Given the description of an element on the screen output the (x, y) to click on. 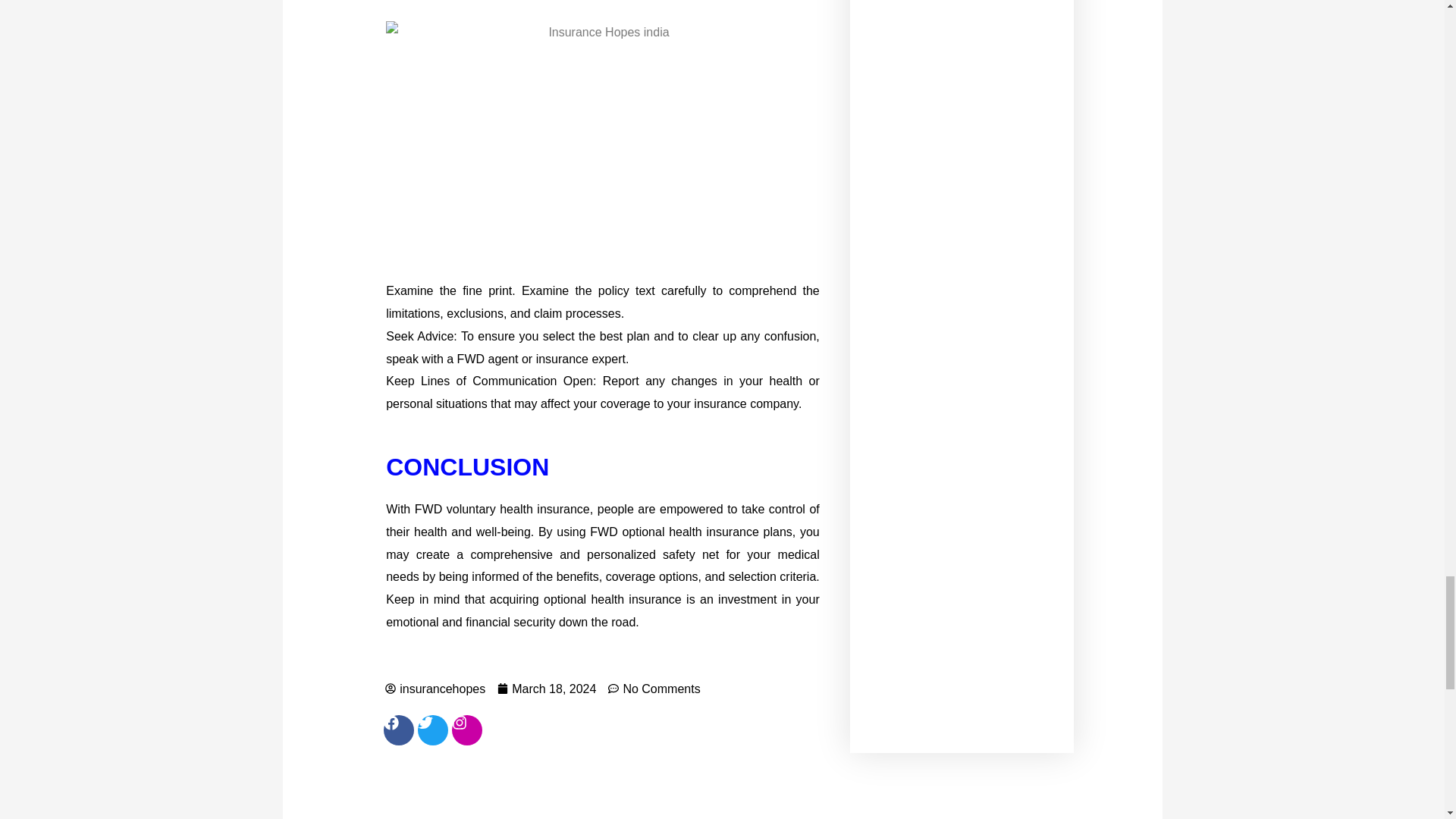
March 18, 2024 (546, 689)
Instagram (466, 729)
Twitter (432, 729)
No Comments (654, 689)
insurancehopes (434, 689)
Facebook (398, 729)
